Given the description of an element on the screen output the (x, y) to click on. 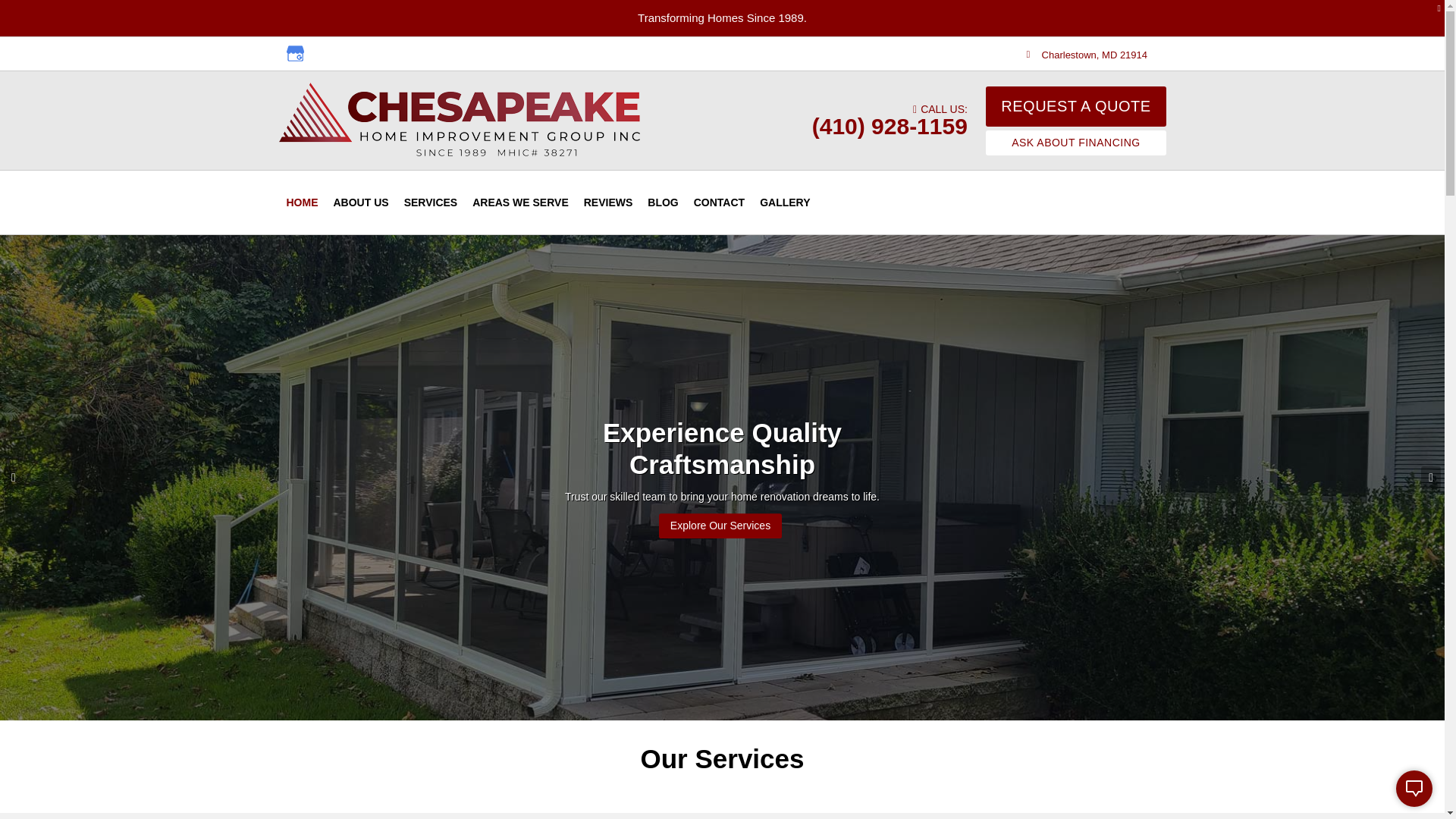
Explore Our Services (720, 525)
AREAS WE SERVE (520, 202)
Chesapeake Home Improvement Group, Inc (461, 120)
Google Business Profile (294, 53)
ABOUT US (361, 202)
HOME (302, 202)
Transforming Homes Since 1989. (721, 17)
REVIEWS (608, 202)
GALLERY (784, 202)
REQUEST A QUOTE (1075, 106)
CONTACT (718, 202)
BLOG (662, 202)
SERVICES (430, 202)
